Given the description of an element on the screen output the (x, y) to click on. 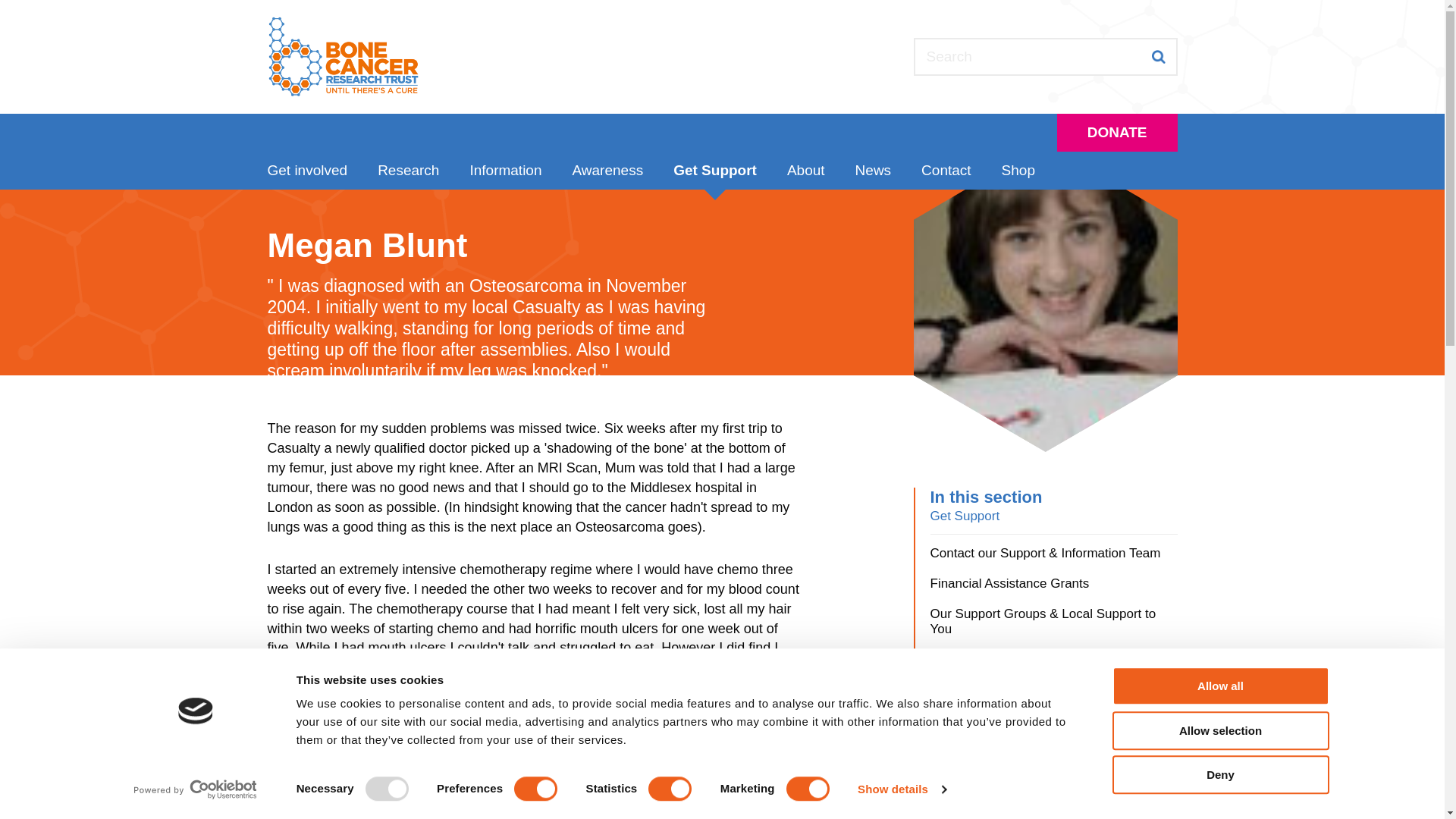
Show details (900, 789)
